Given the description of an element on the screen output the (x, y) to click on. 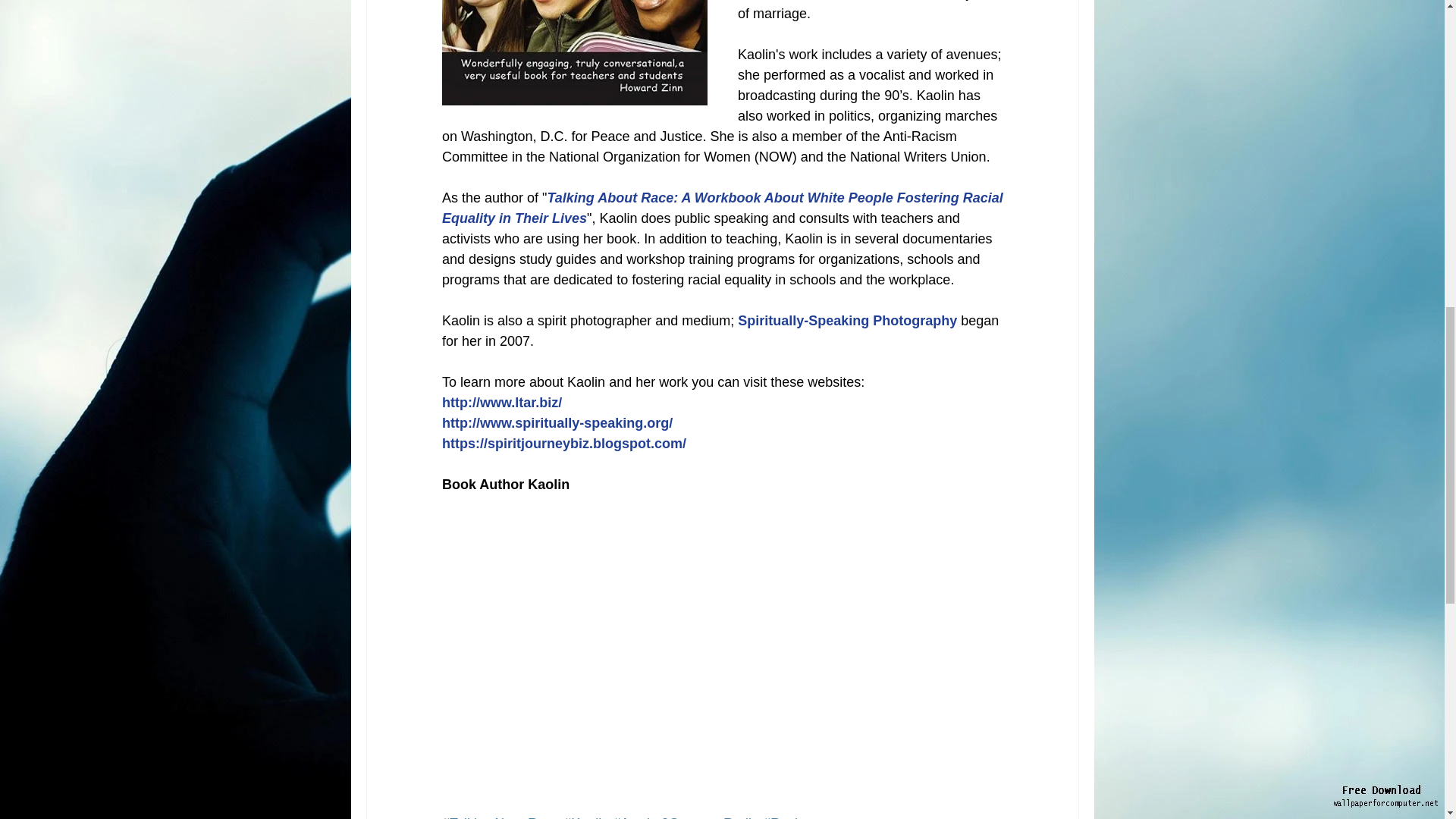
Spiritually-Speaking Photography (847, 320)
